Given the description of an element on the screen output the (x, y) to click on. 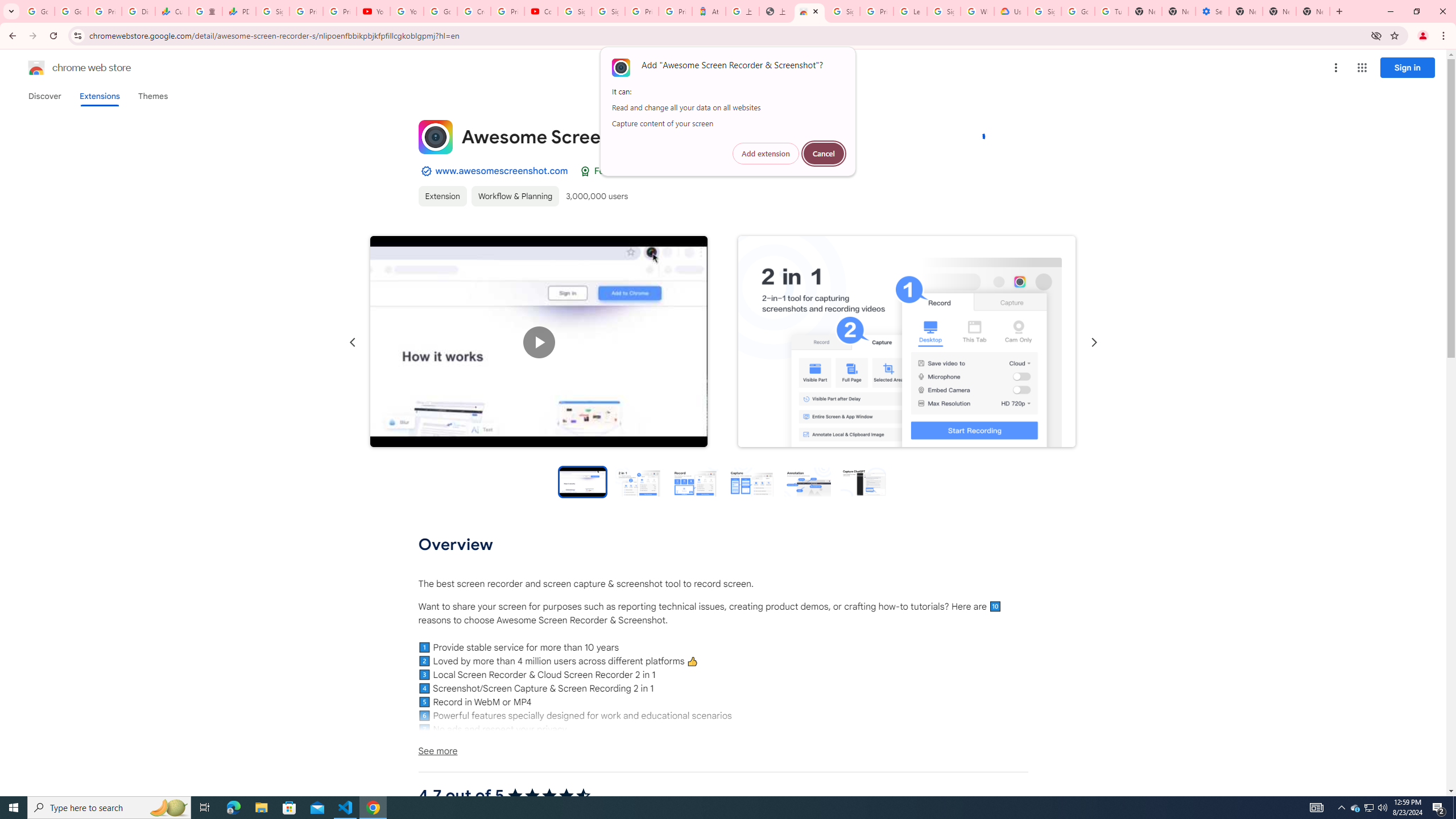
Item logo image for Awesome Screen Recorder & Screenshot (434, 136)
Cancel (823, 153)
Task View (204, 807)
Q2790: 100% (1382, 807)
Running applications (717, 807)
Notification Chevron (1341, 807)
By Established Publisher Badge (425, 170)
Featured Badge (584, 170)
Preview slide 6 (863, 481)
PDD Holdings Inc - ADR (PDD) Price & News - Google Finance (238, 11)
Preview slide 1 (582, 481)
